Given the description of an element on the screen output the (x, y) to click on. 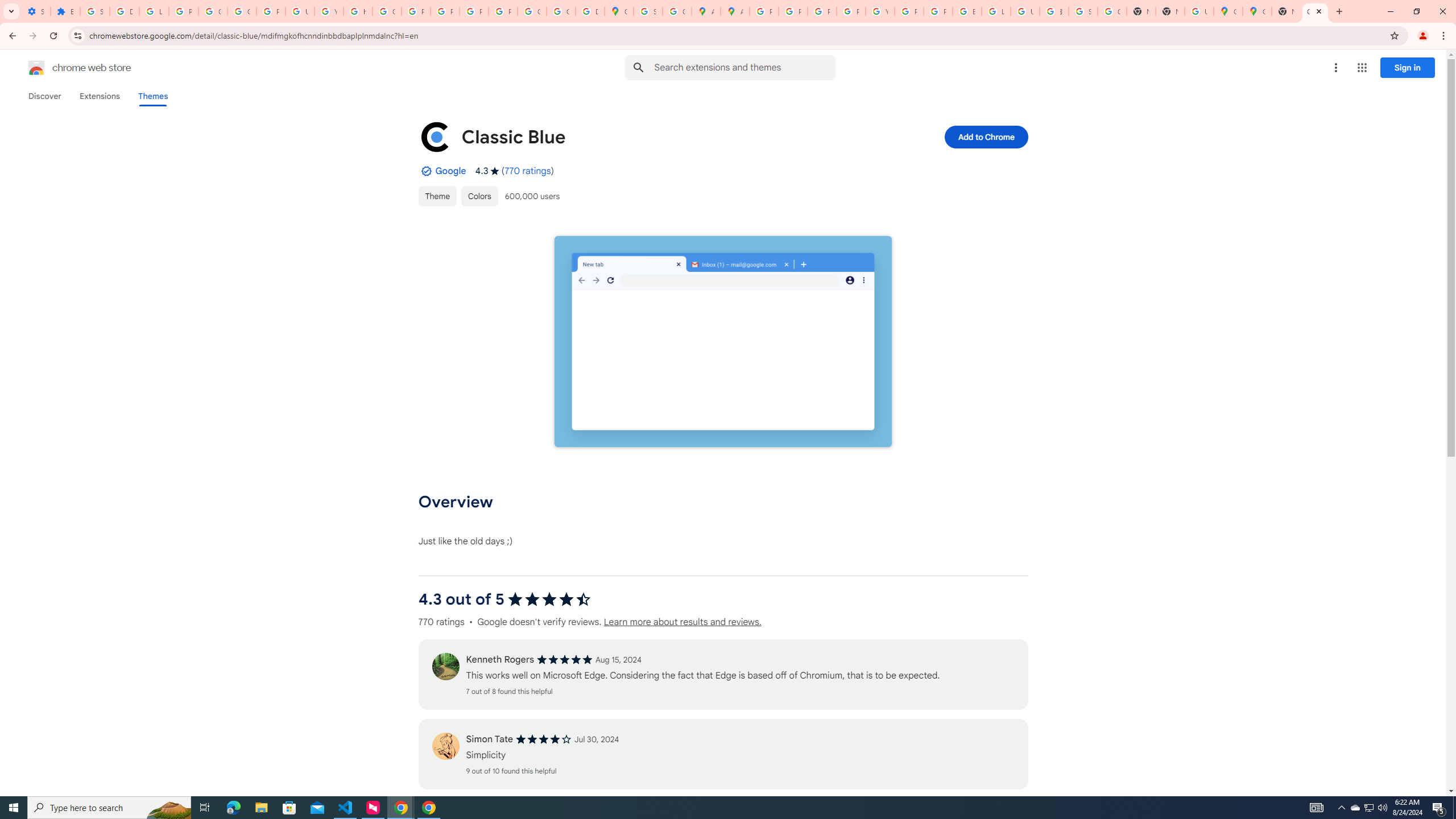
By Established Publisher Badge (425, 170)
Discover (43, 95)
Review's profile picture (445, 746)
Learn more about results and reviews. (681, 622)
Item media 1 screenshot (723, 342)
Theme (437, 195)
Privacy Help Center - Policies Help (821, 11)
Item logo image for Classic Blue Classic Blue (645, 136)
